Given the description of an element on the screen output the (x, y) to click on. 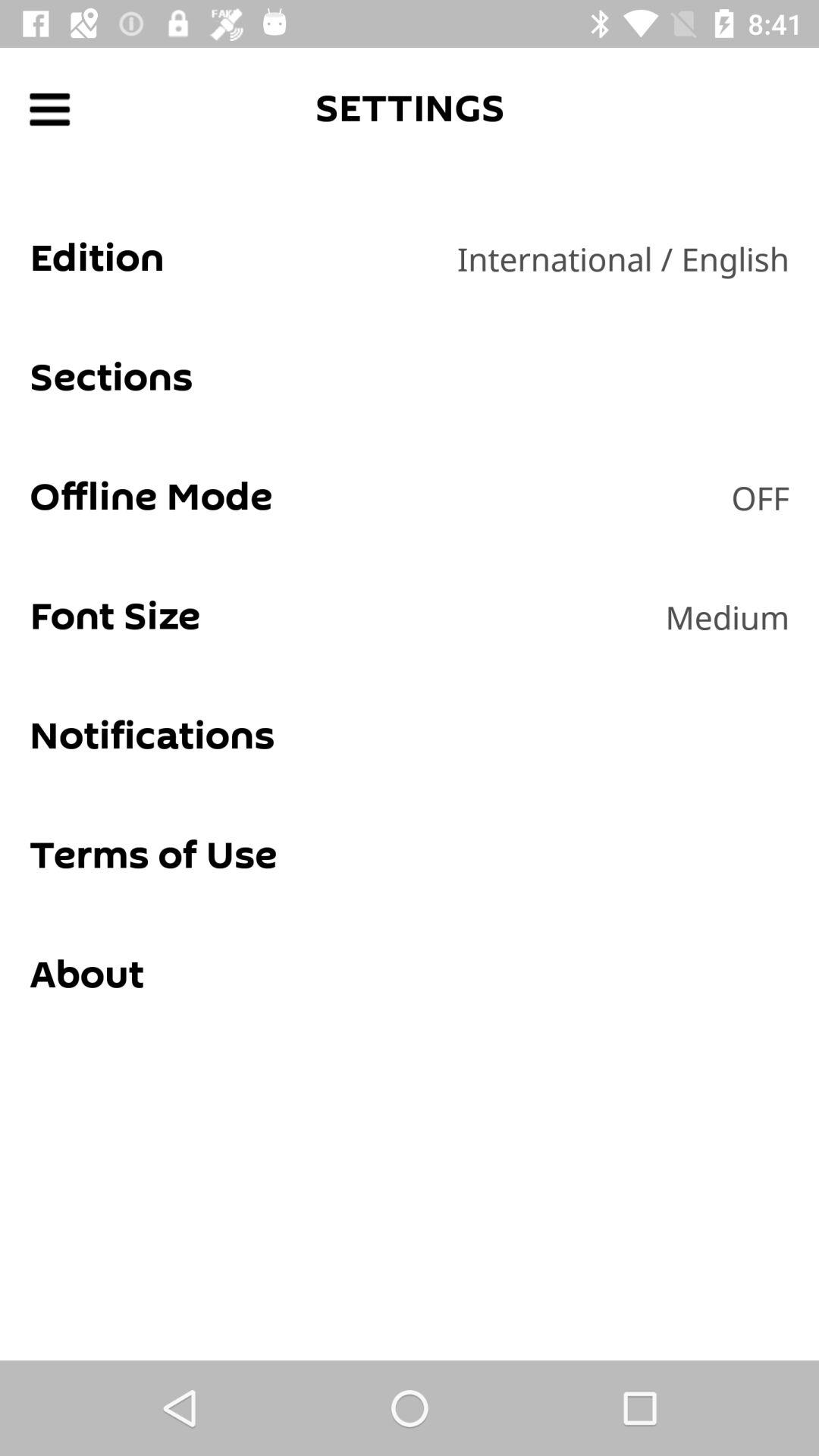
open icon above edition (49, 109)
